Given the description of an element on the screen output the (x, y) to click on. 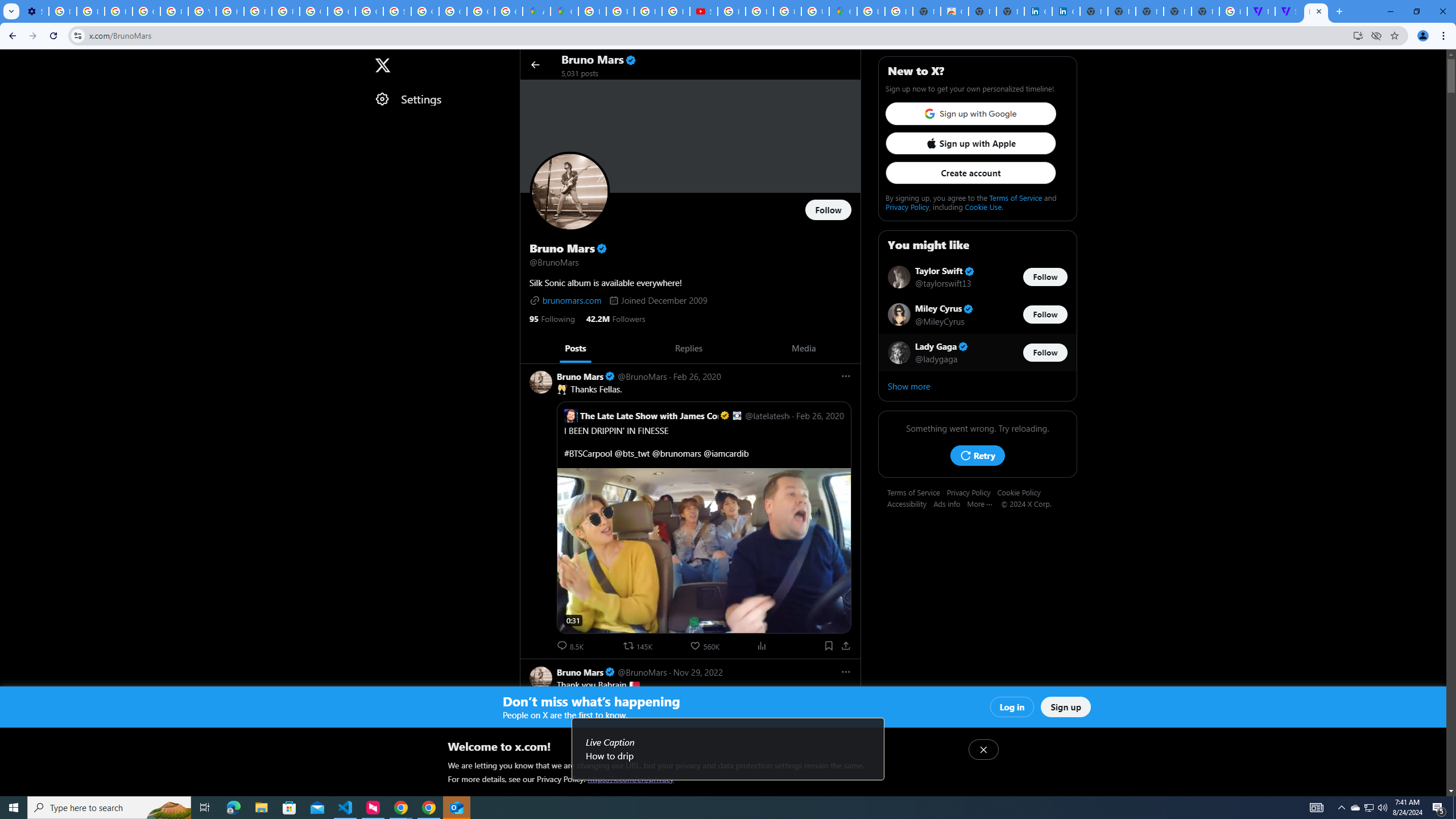
Show more (977, 386)
Square profile picture (571, 415)
Learn how to find your photos - Google Photos Help (90, 11)
Skip to home timeline (10, 59)
Chrome (1445, 35)
Chrome Web Store (955, 11)
Media (803, 347)
Bruno Mars (@BrunoMars) / X (1316, 11)
